Given the description of an element on the screen output the (x, y) to click on. 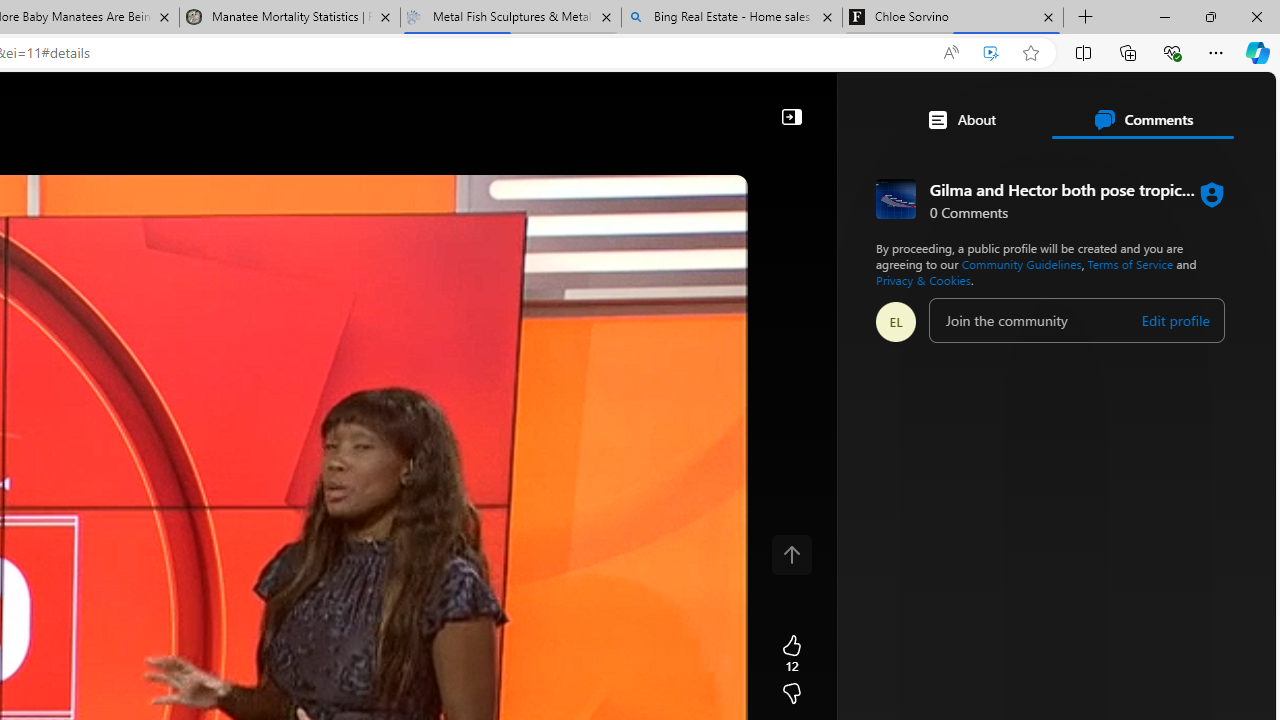
Edit profile (1174, 321)
Class: control icon-only (791, 554)
Community Guidelines (1021, 264)
Comments (1142, 119)
Income For Life Trading System (888, 288)
